Given the description of an element on the screen output the (x, y) to click on. 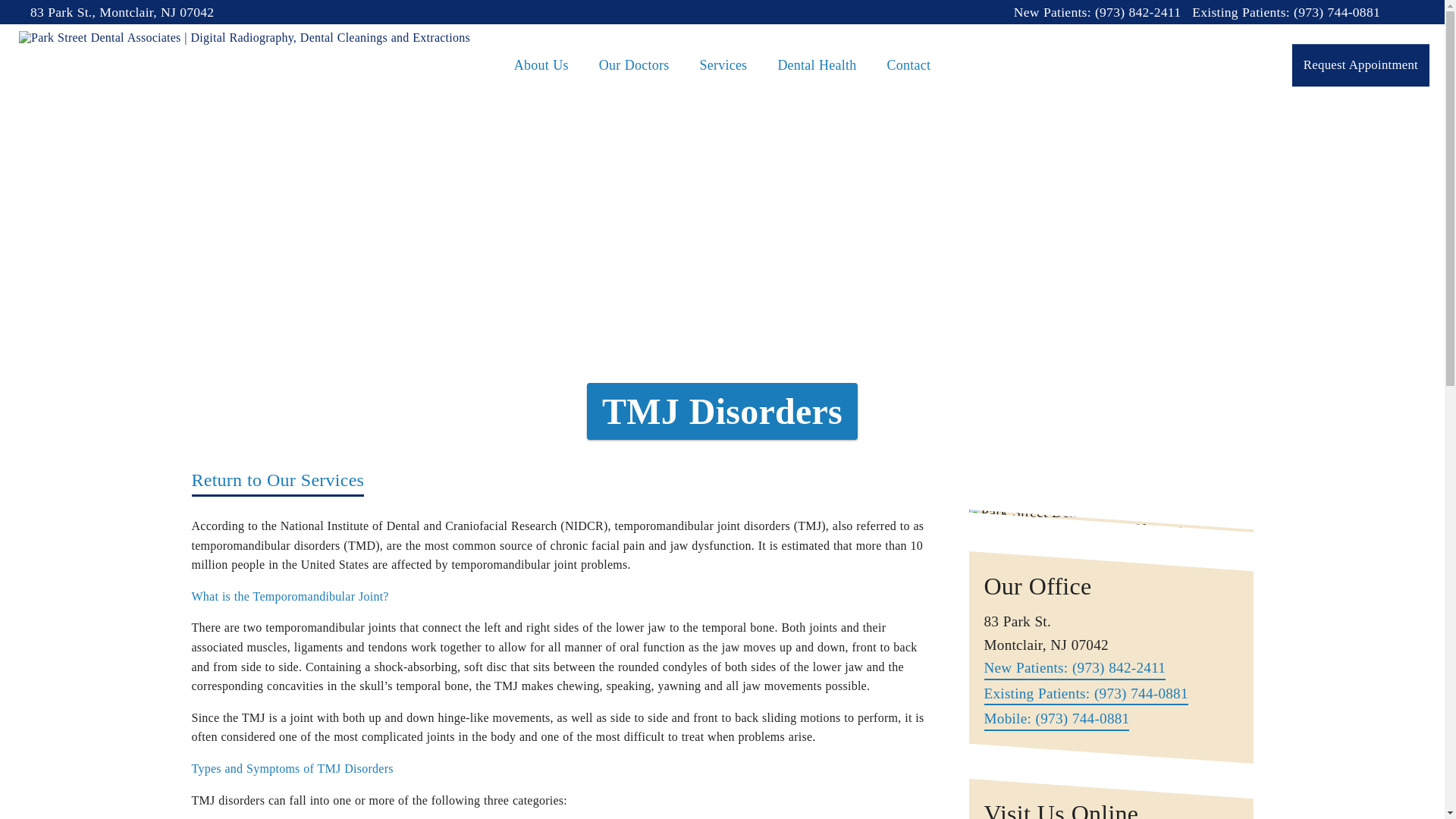
Request Appointment (1360, 65)
Return to Our Services (277, 483)
